Given the description of an element on the screen output the (x, y) to click on. 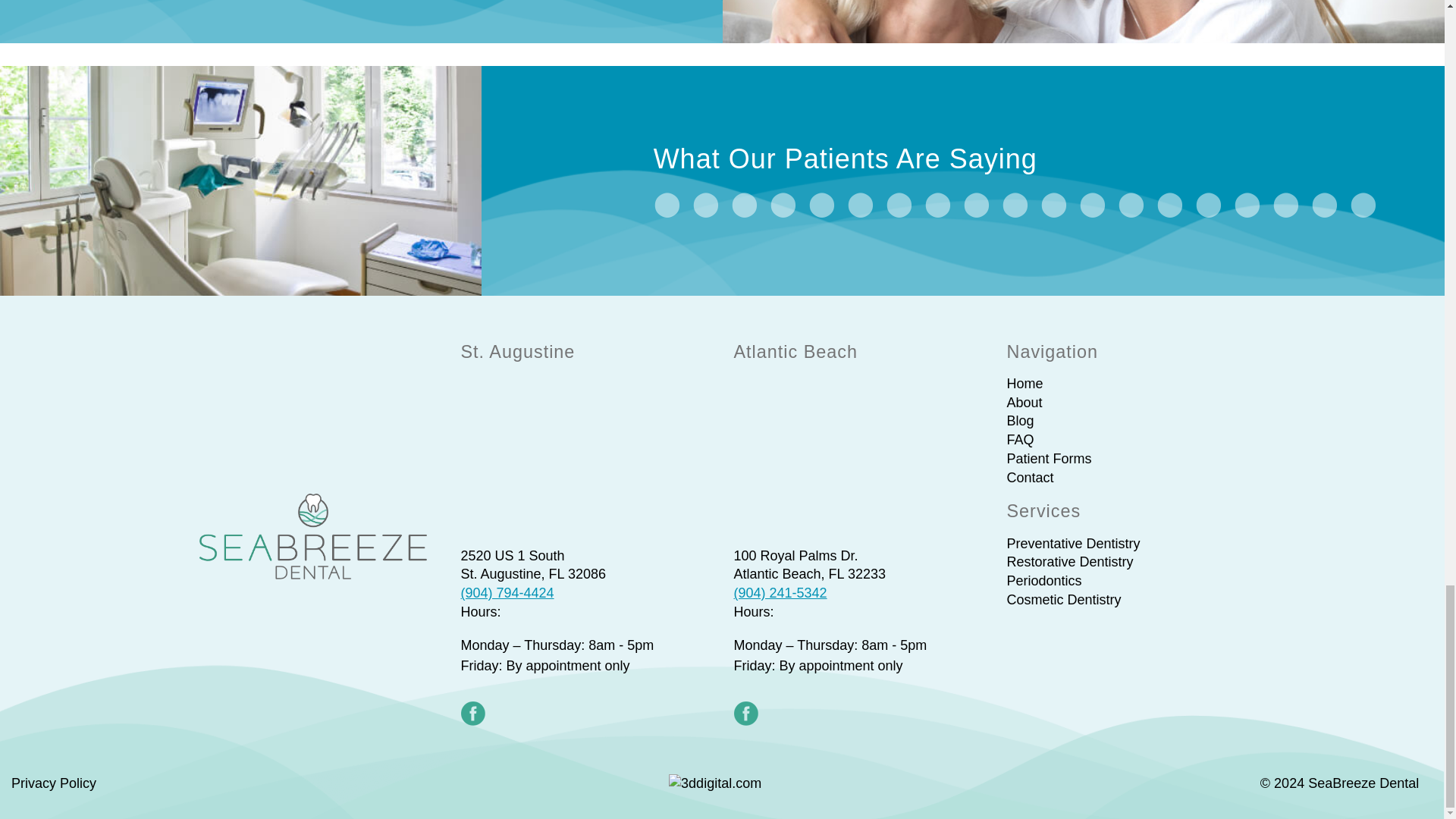
Preventative Dentistry (1073, 543)
FAQ (1020, 439)
Patient Forms (1049, 458)
Restorative Dentistry (1070, 561)
Contact (1030, 477)
Home (1025, 383)
Periodontics (1044, 580)
Cosmetic Dentistry (1064, 599)
Privacy Policy (53, 783)
Blog (1020, 420)
